Given the description of an element on the screen output the (x, y) to click on. 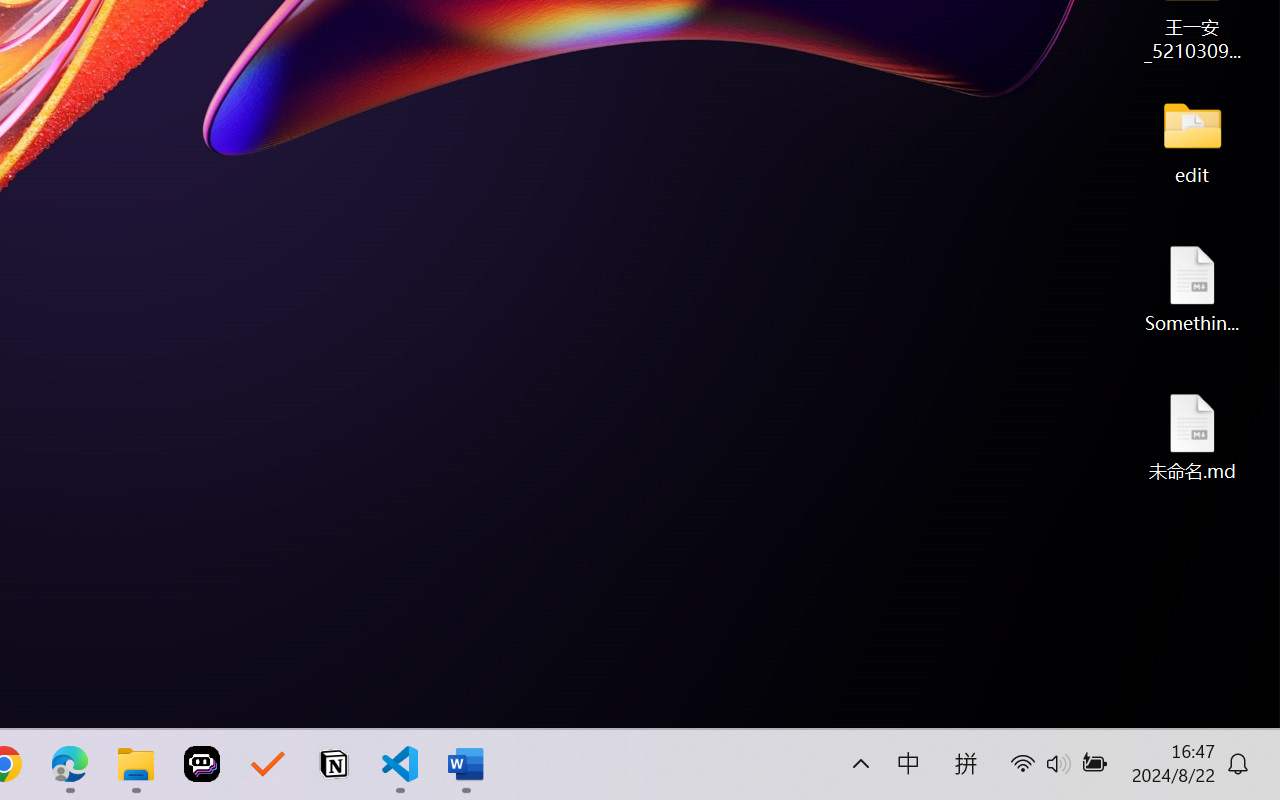
edit (1192, 140)
